Given the description of an element on the screen output the (x, y) to click on. 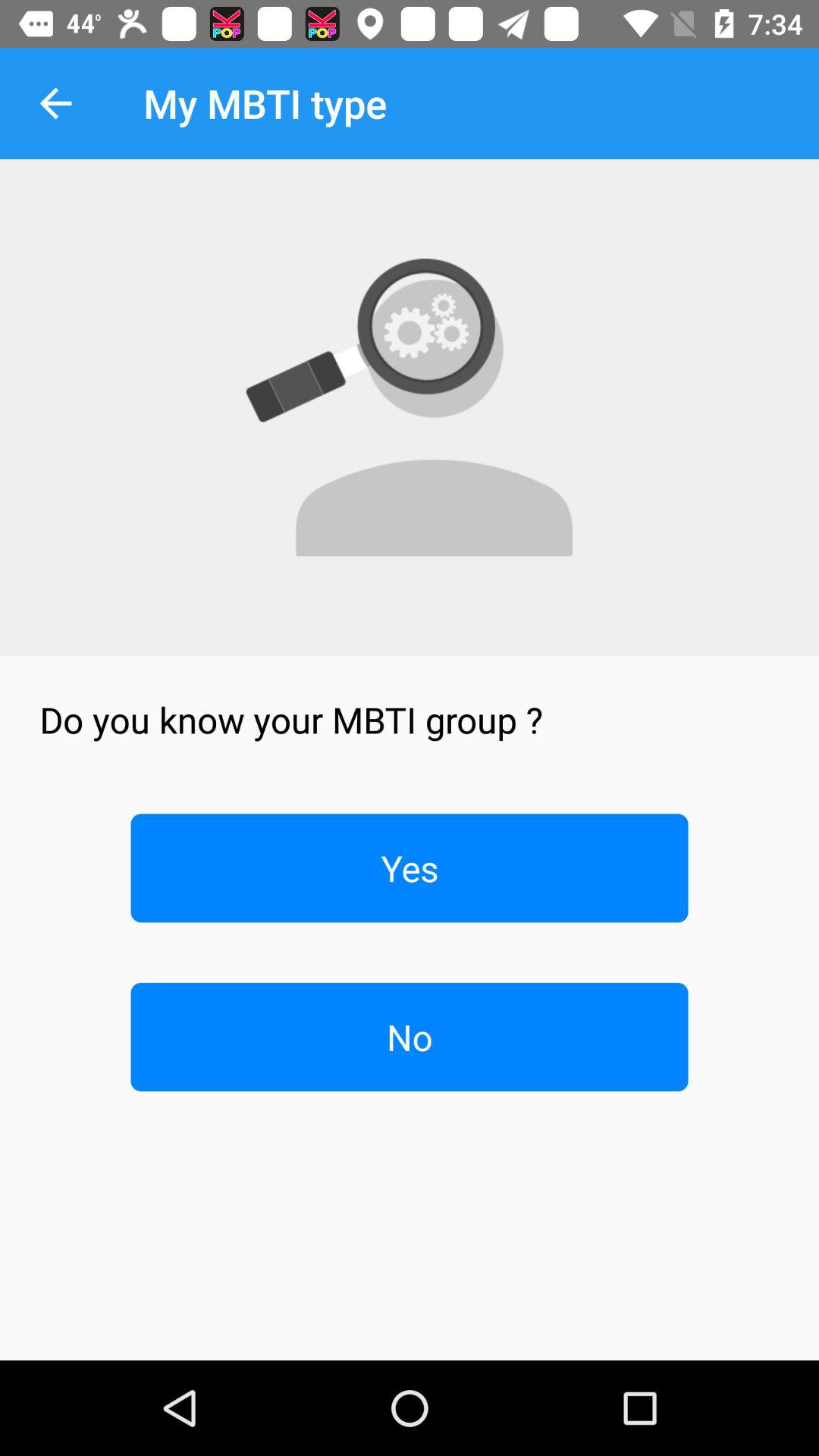
scroll until no icon (409, 1036)
